Given the description of an element on the screen output the (x, y) to click on. 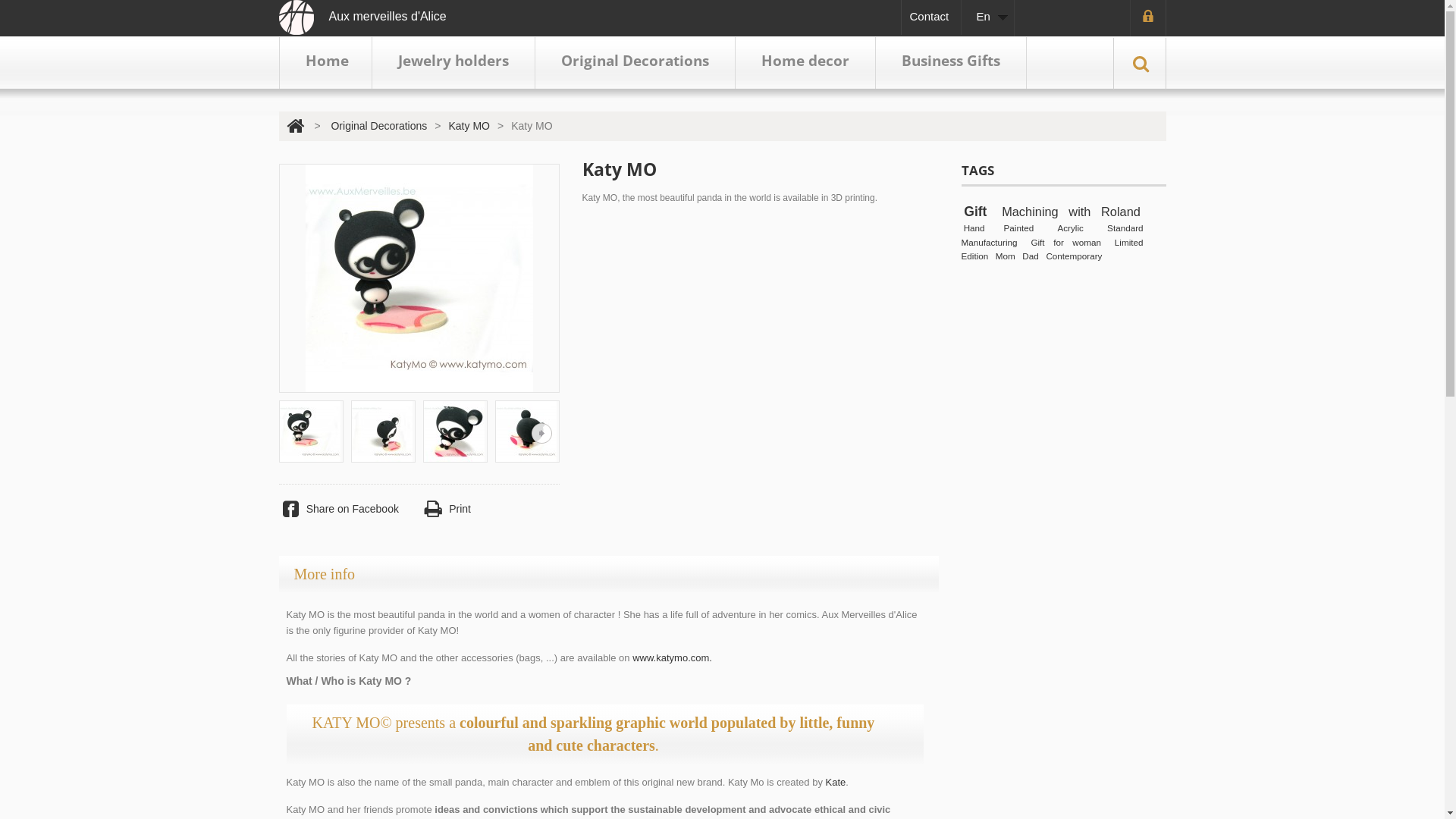
Original Decorations Element type: text (378, 125)
www.katymo.com. Element type: text (672, 657)
Machining with Roland Element type: text (1071, 212)
Next Element type: text (540, 433)
Login Element type: hover (1146, 17)
Gift for woman Element type: text (1065, 243)
Return to Home Element type: hover (295, 125)
Katy MO Element type: hover (418, 278)
Home Element type: text (324, 62)
Dad Element type: text (1029, 256)
Business Gifts Element type: text (950, 62)
Gift Element type: text (975, 211)
Katy MO: Katy MO / Original Decorations Element type: hover (382, 431)
Katy MO Element type: text (468, 125)
Standard Manufacturing Element type: text (1052, 236)
Katy MO: Katy MO / Original Decorations Element type: hover (455, 431)
Katy MO: Katy MO / Original Decorations Element type: hover (311, 431)
Home decor Element type: text (805, 62)
Print Element type: text (445, 508)
Contemporary Element type: text (1073, 256)
Limited Edition Element type: text (1052, 250)
Acrylic Element type: text (1069, 228)
Share on Facebook Element type: text (338, 508)
Kate Element type: text (835, 781)
Jewelry holders Element type: text (452, 62)
Mom Element type: text (1005, 256)
Katy MO: Katy MO / Original Decorations Element type: hover (526, 431)
Hand Painted Element type: text (998, 228)
Original Decorations Element type: text (634, 62)
